Given the description of an element on the screen output the (x, y) to click on. 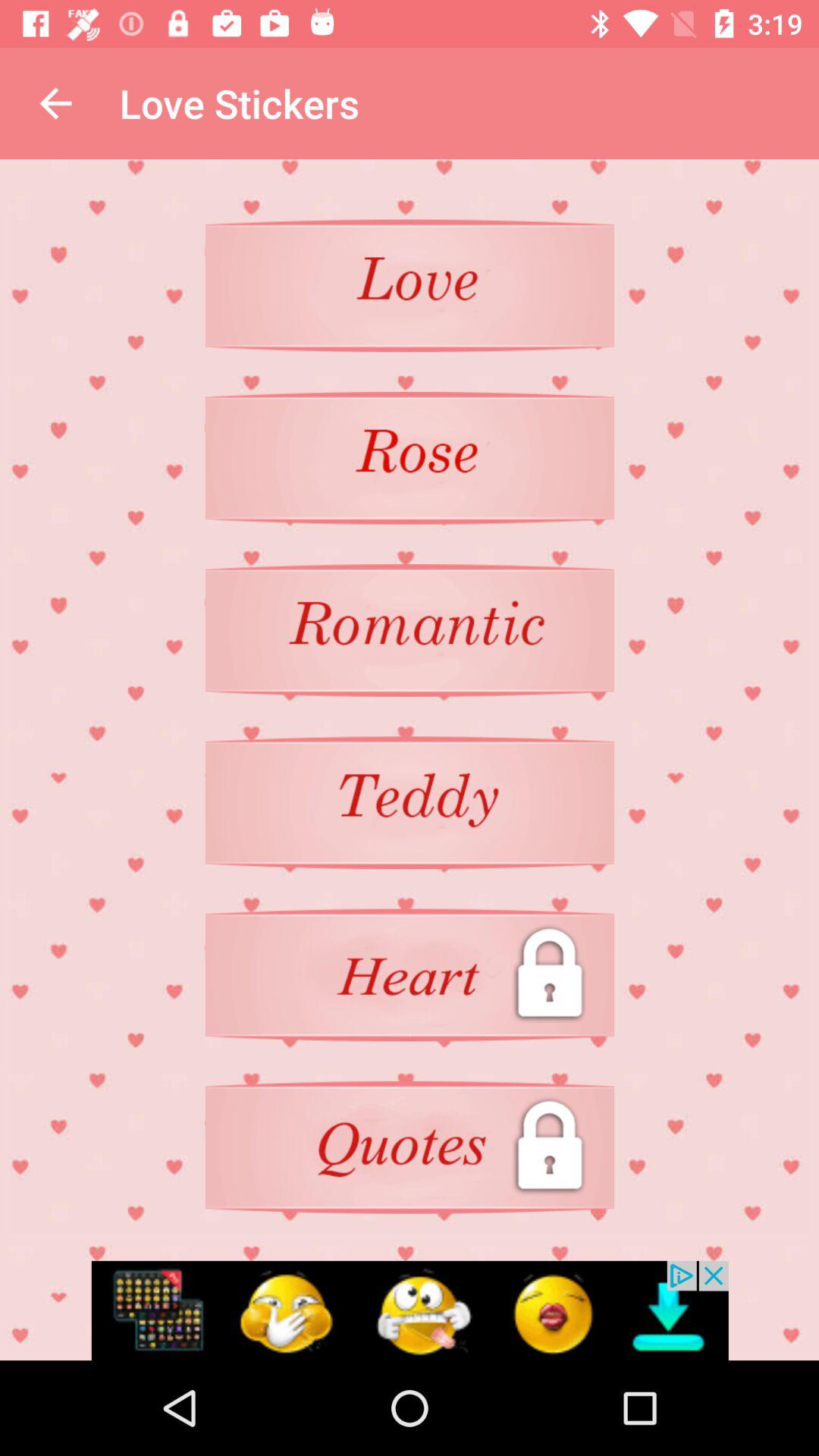
stickers romatic (409, 630)
